Given the description of an element on the screen output the (x, y) to click on. 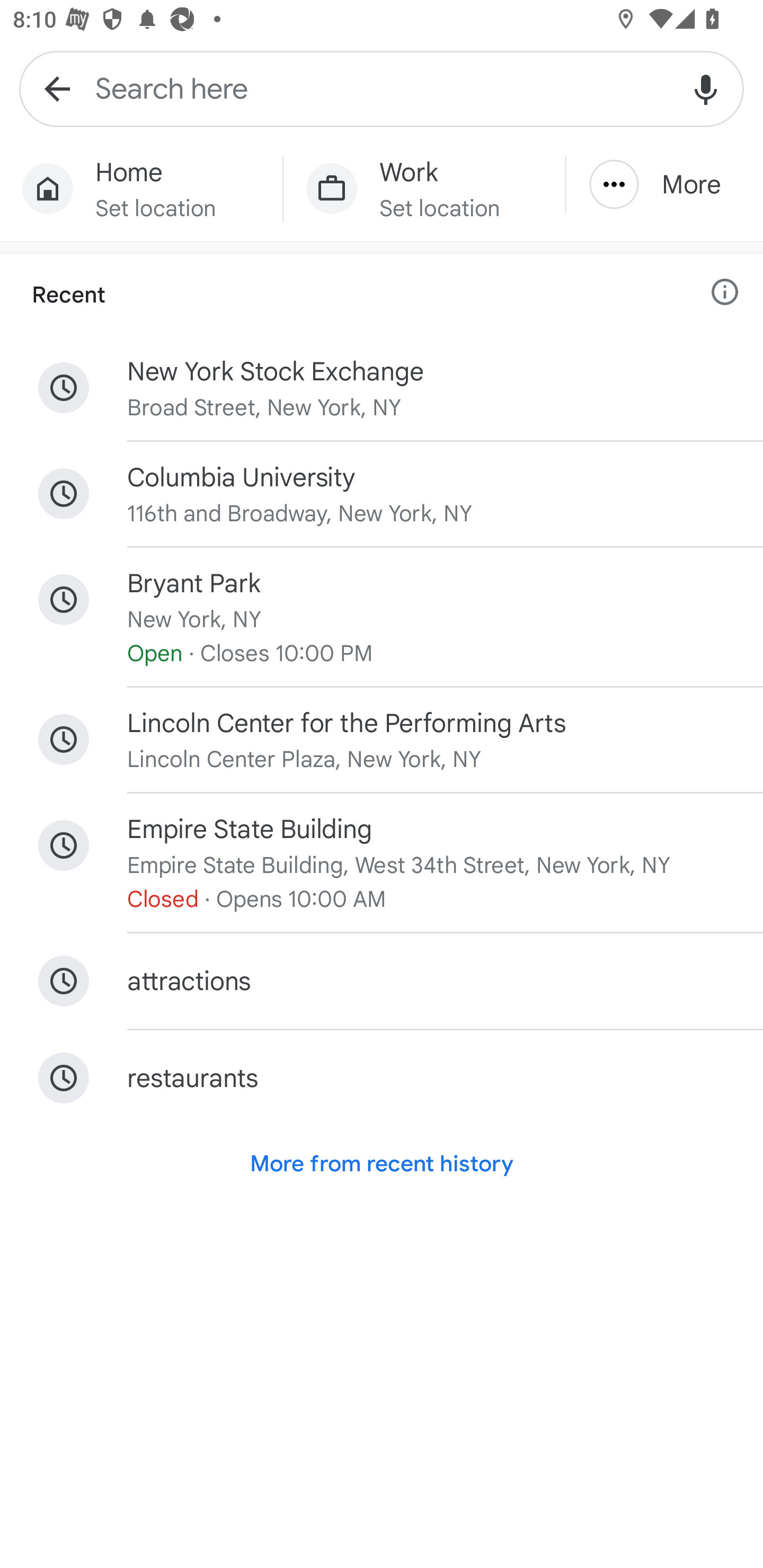
Navigate up (57, 88)
Search here (381, 88)
Voice search (705, 88)
Home Set location (141, 188)
Work Set location (423, 188)
More (664, 184)
New York Stock Exchange Broad Street, New York, NY (381, 387)
Bryant Park New York, NY Open · Closes 10:00 PM (381, 616)
attractions (381, 980)
restaurants (381, 1077)
More from recent history (381, 1163)
